Given the description of an element on the screen output the (x, y) to click on. 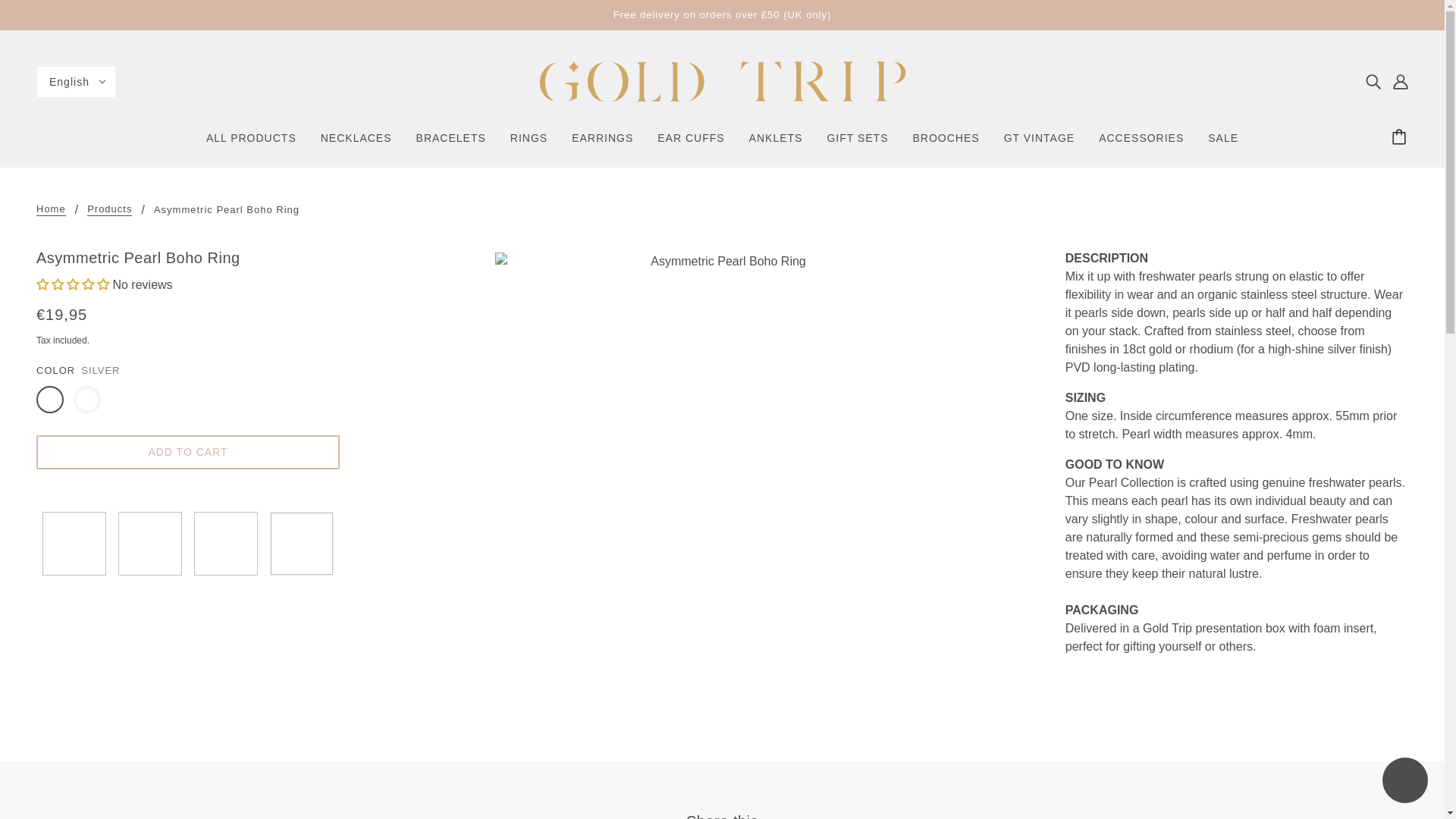
ANKLETS (775, 143)
GT VINTAGE (1039, 143)
ADD TO CART (187, 451)
EARRINGS (602, 143)
BROOCHES (946, 143)
EAR CUFFS (690, 143)
ACCESSORIES (1140, 143)
Products (109, 209)
ALL PRODUCTS (250, 143)
SALE (1222, 143)
